Given the description of an element on the screen output the (x, y) to click on. 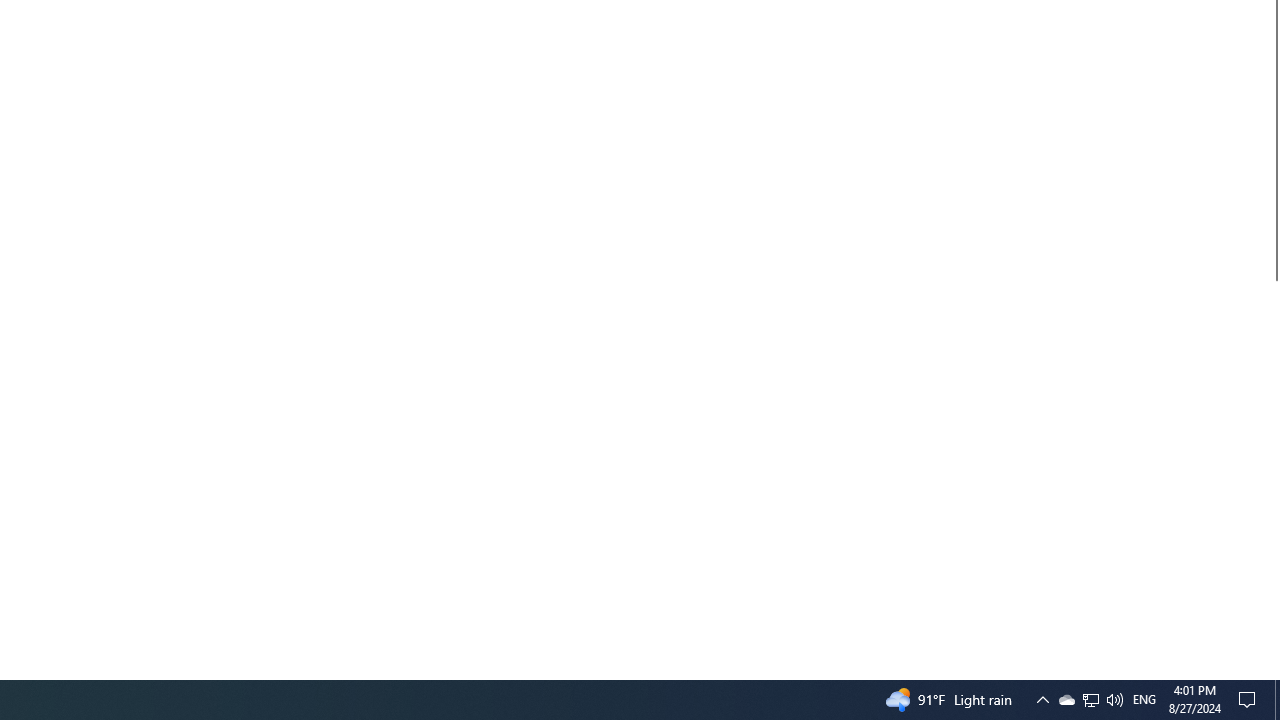
Vertical Large Increase (1272, 471)
Vertical Small Increase (1272, 671)
